Given the description of an element on the screen output the (x, y) to click on. 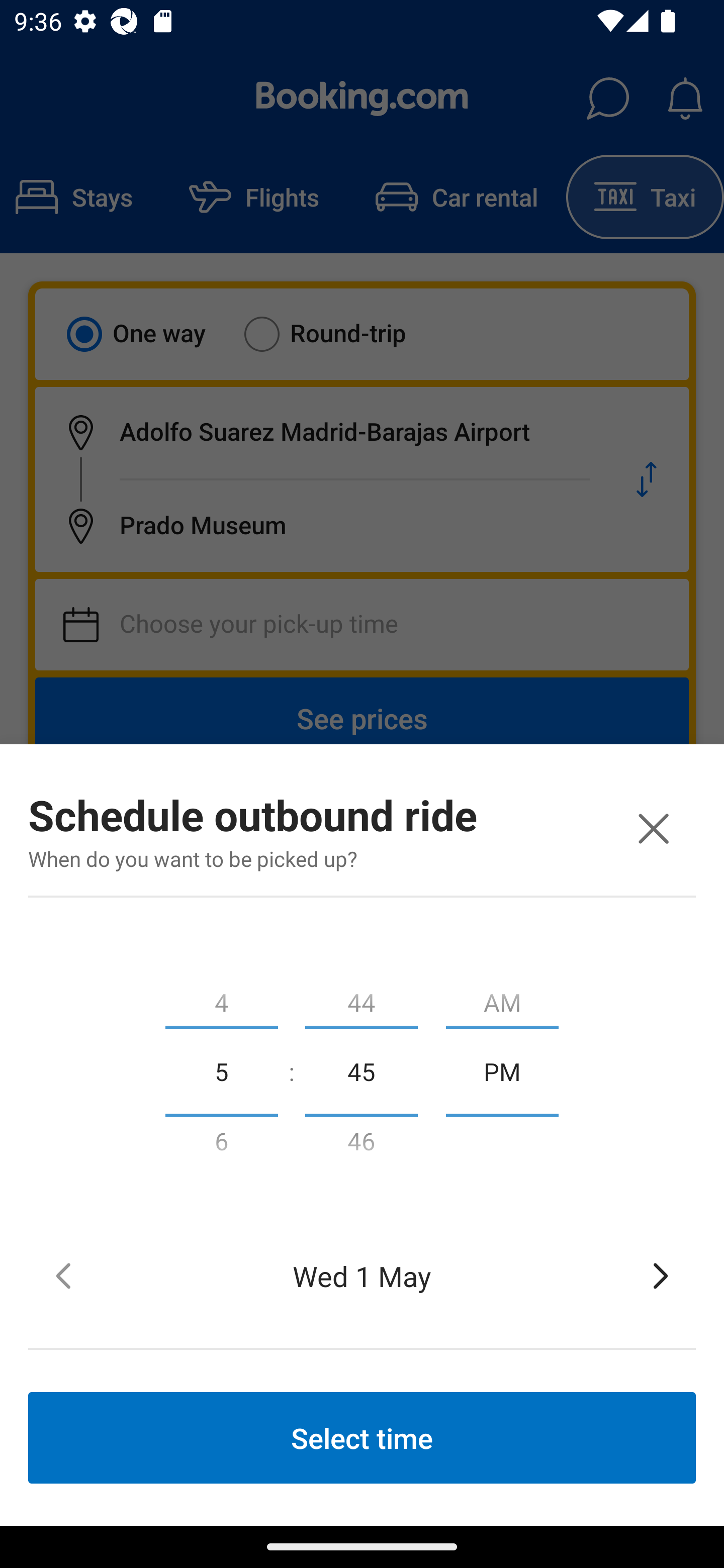
Close window (653, 828)
4 (221, 997)
44 (361, 997)
AM (501, 997)
5 (221, 1070)
45 (361, 1070)
PM (501, 1070)
6 (221, 1144)
46 (361, 1144)
Tap to move back to the previous date (63, 1275)
Tap to move forward to the next date (660, 1275)
Wed 1 May Selected date, Wednesday, 1 May (361, 1275)
Select time (361, 1437)
